Given the description of an element on the screen output the (x, y) to click on. 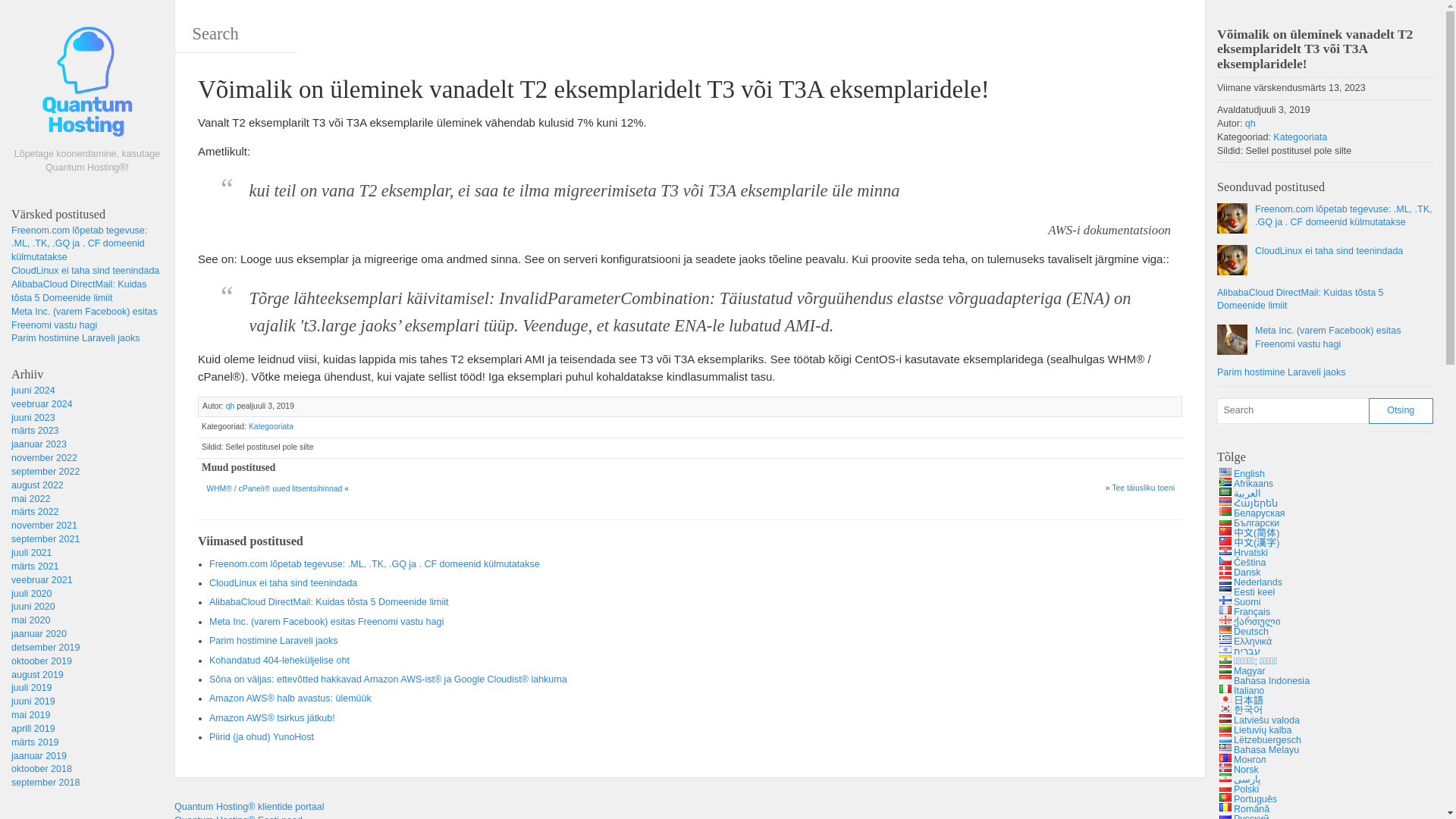
veebruar 2024 (41, 403)
juuni 2024 (33, 389)
qh tehtud postitused (229, 406)
Otsing (1400, 411)
Otsing (1400, 411)
CloudLinux ei taha sind teenindada (1310, 259)
jaanuar 2023 (38, 443)
juuni 2023 (33, 417)
Parim hostimine Laraveli jaoks (75, 337)
Afrikaans (1225, 481)
Otsing (57, 18)
Parim hostimine Laraveli jaoks (1300, 373)
Otsing (1292, 411)
English (1225, 471)
